Given the description of an element on the screen output the (x, y) to click on. 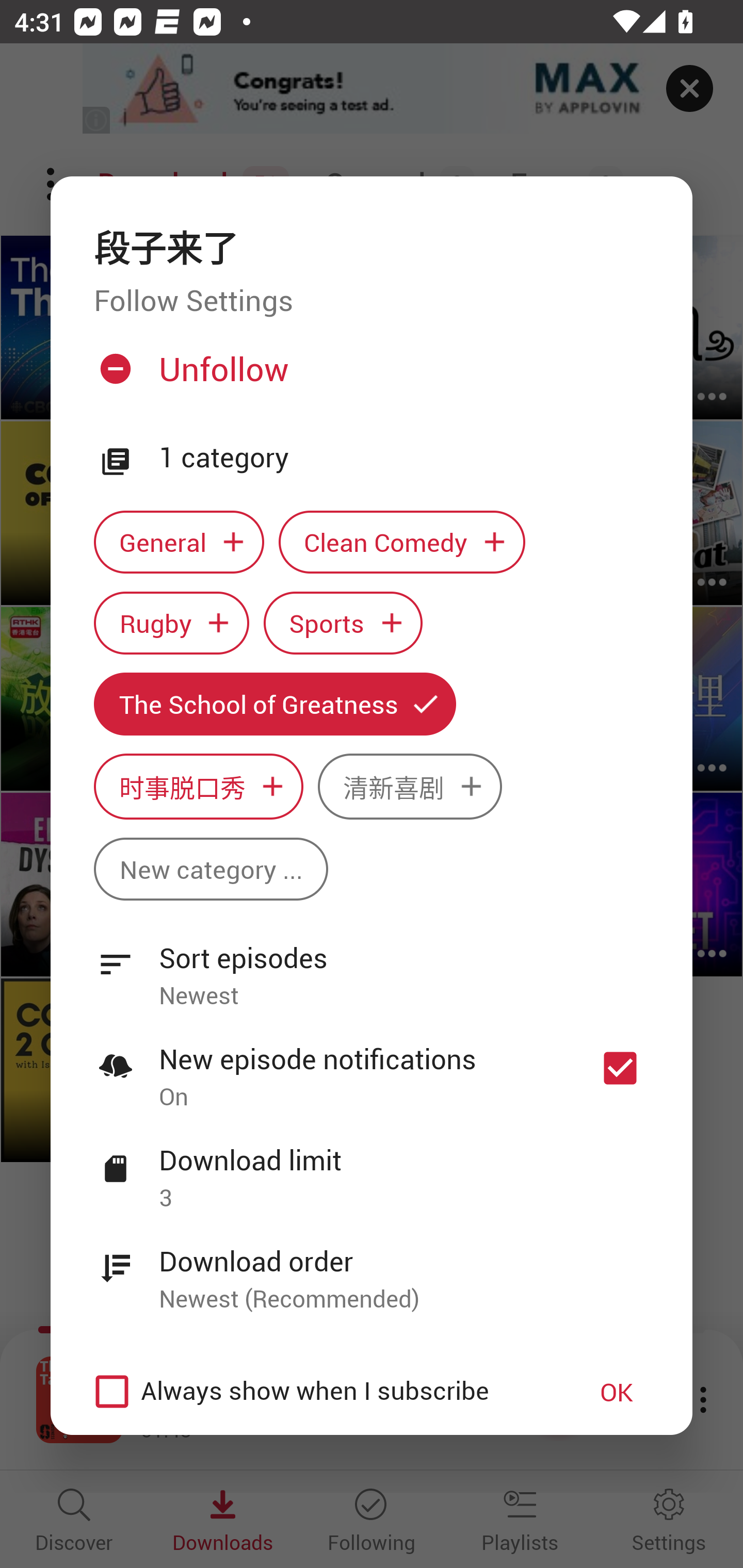
Unfollow (369, 376)
1 category (404, 457)
General (178, 542)
Clean Comedy (401, 542)
Rugby (170, 622)
Sports (342, 622)
The School of Greatness (274, 703)
时事脱口秀 (198, 787)
清新喜剧 (410, 787)
New category ... (210, 868)
Sort episodes Newest (371, 965)
New episode notifications (620, 1068)
Download limit 3 (371, 1167)
Download order Newest (Recommended) (371, 1268)
OK (616, 1391)
Always show when I subscribe (320, 1391)
